Given the description of an element on the screen output the (x, y) to click on. 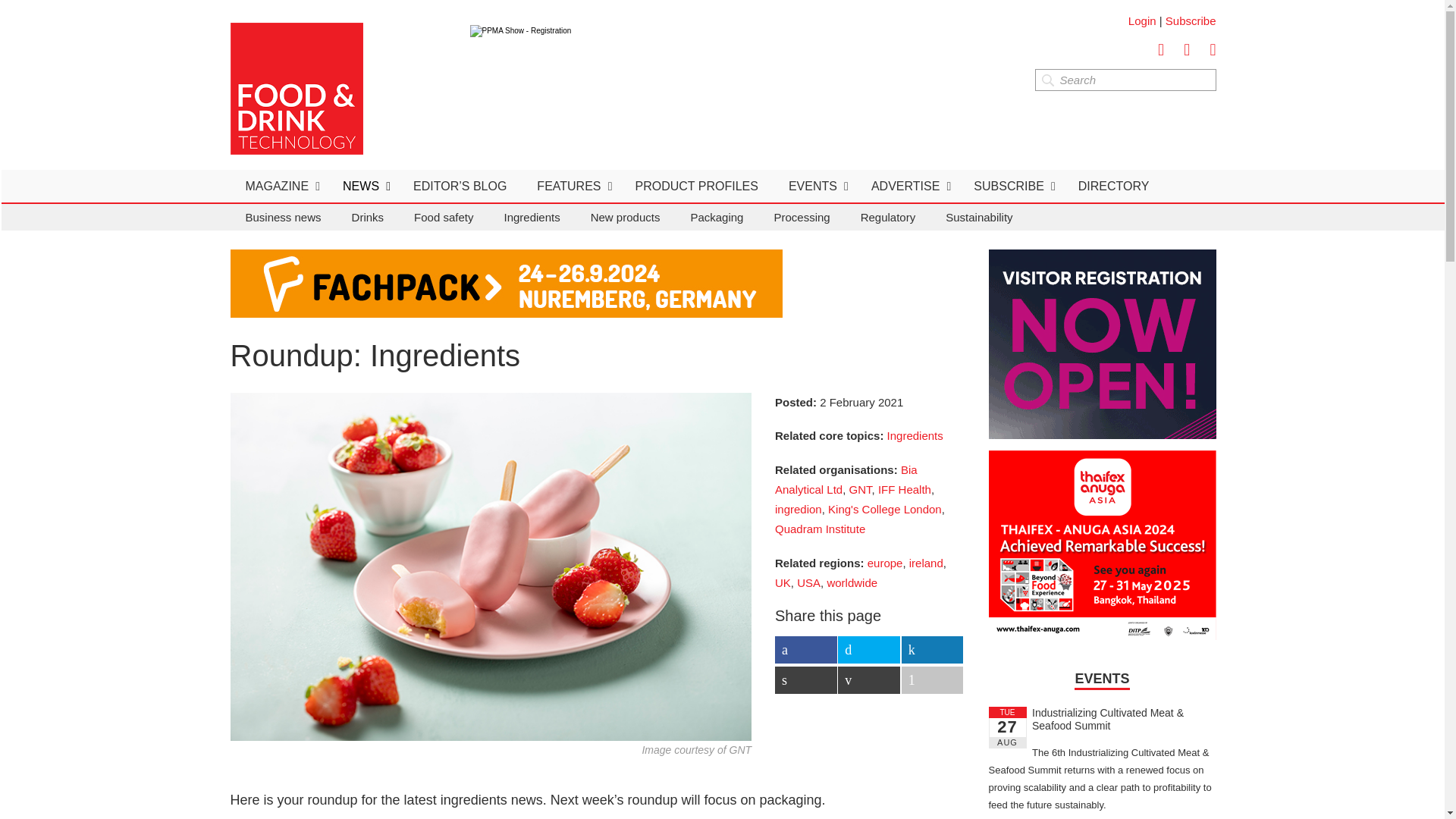
Food and Drink Technology (296, 88)
Share on Facebook (805, 649)
PPMA Show - Registration (746, 59)
Search (1124, 79)
Business news (283, 216)
PRODUCT PROFILES (696, 185)
Share on Print (805, 679)
Drinks (367, 216)
Subscribe (1190, 20)
Search (1124, 79)
